Given the description of an element on the screen output the (x, y) to click on. 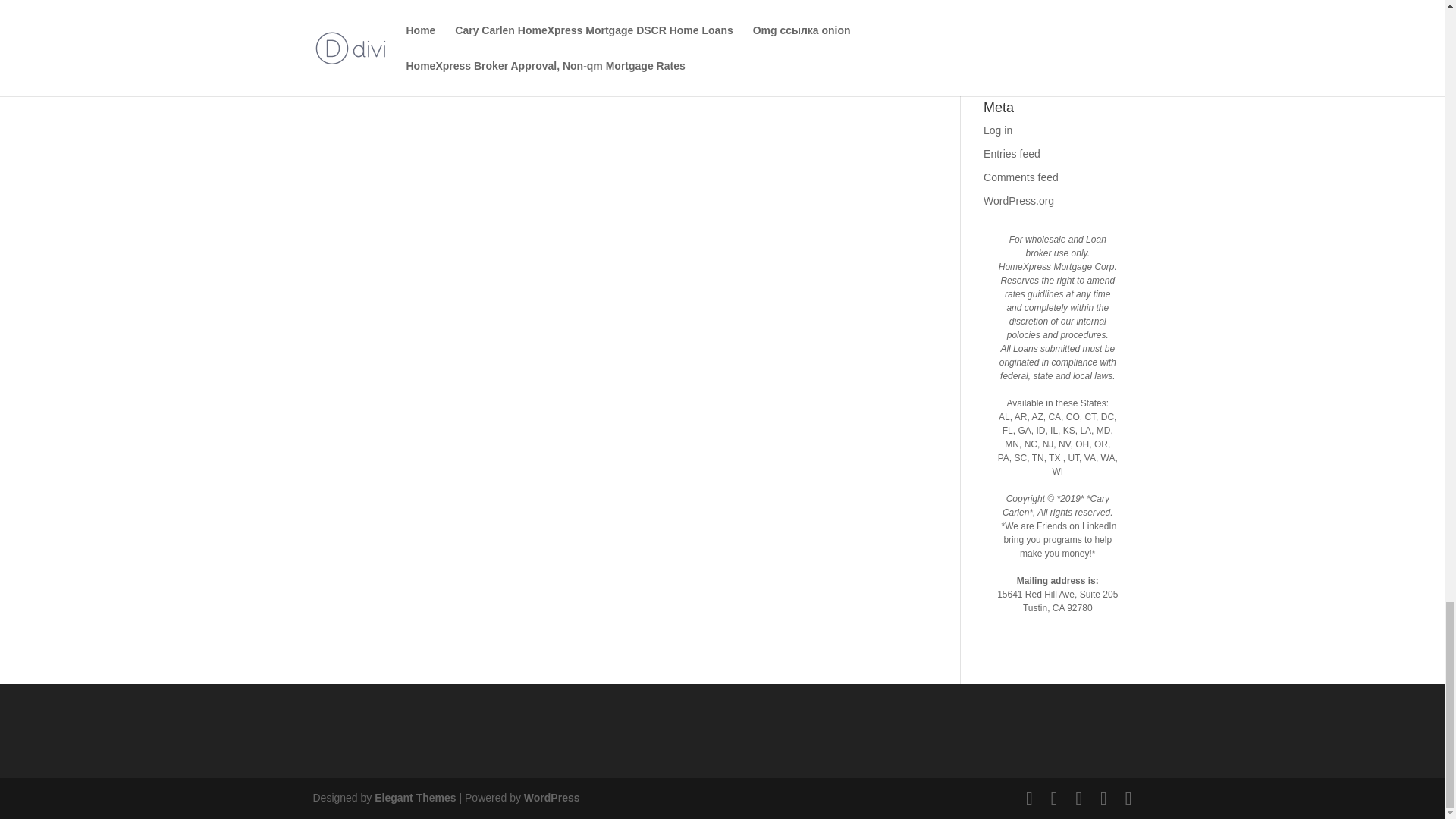
Premium WordPress Themes (414, 797)
